Given the description of an element on the screen output the (x, y) to click on. 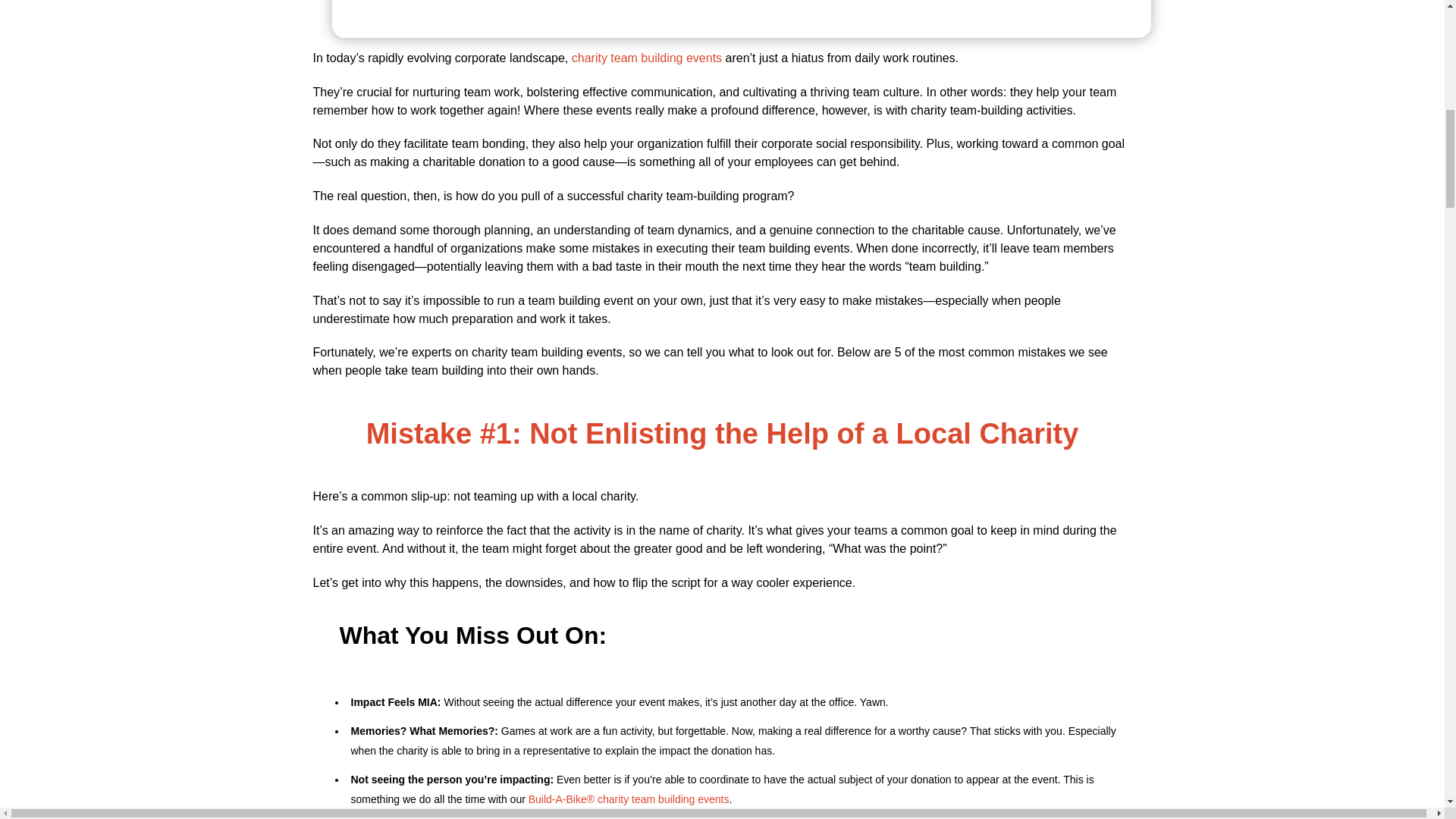
charity team building events (647, 57)
